Given the description of an element on the screen output the (x, y) to click on. 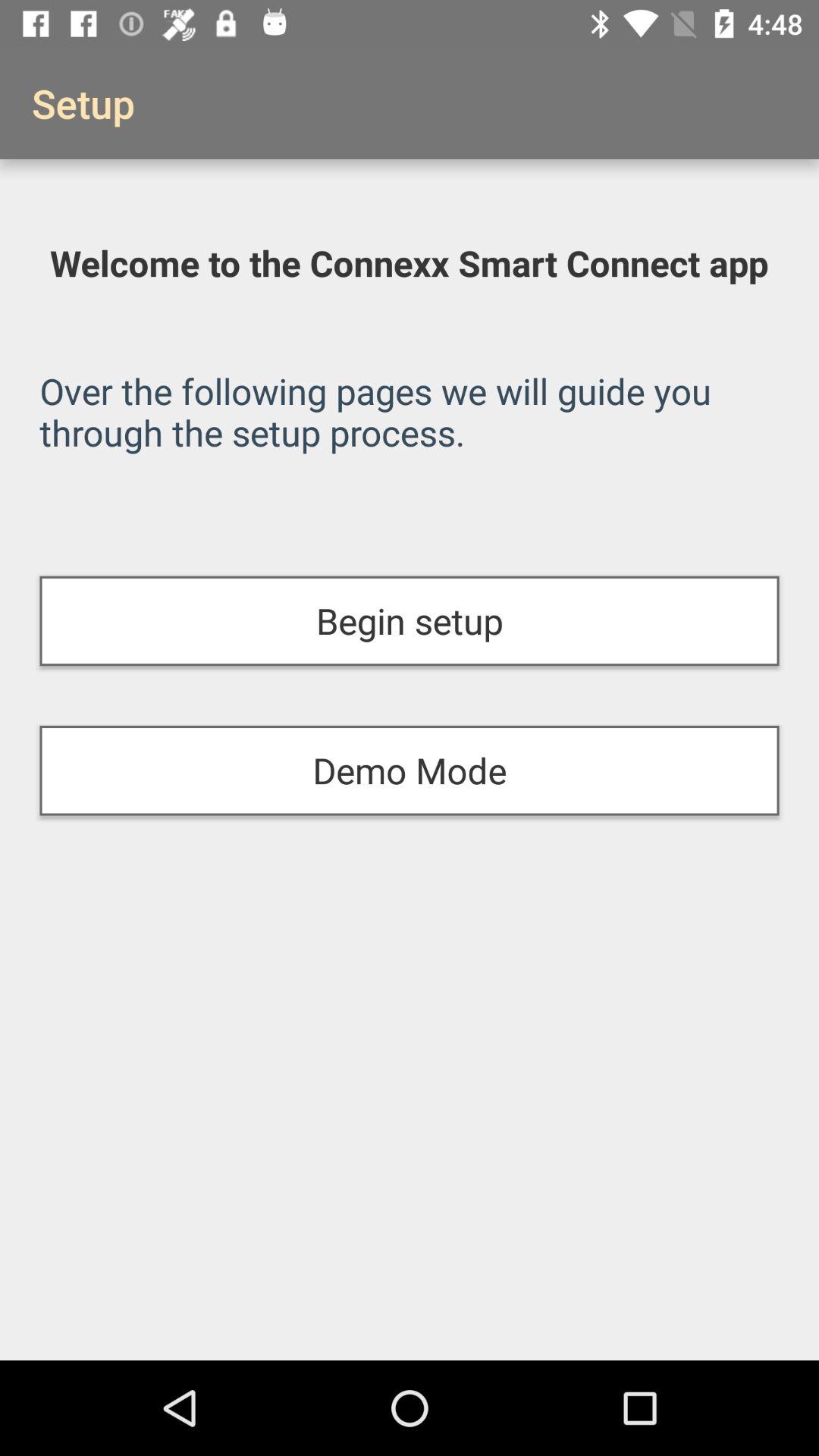
flip until begin setup item (409, 621)
